Given the description of an element on the screen output the (x, y) to click on. 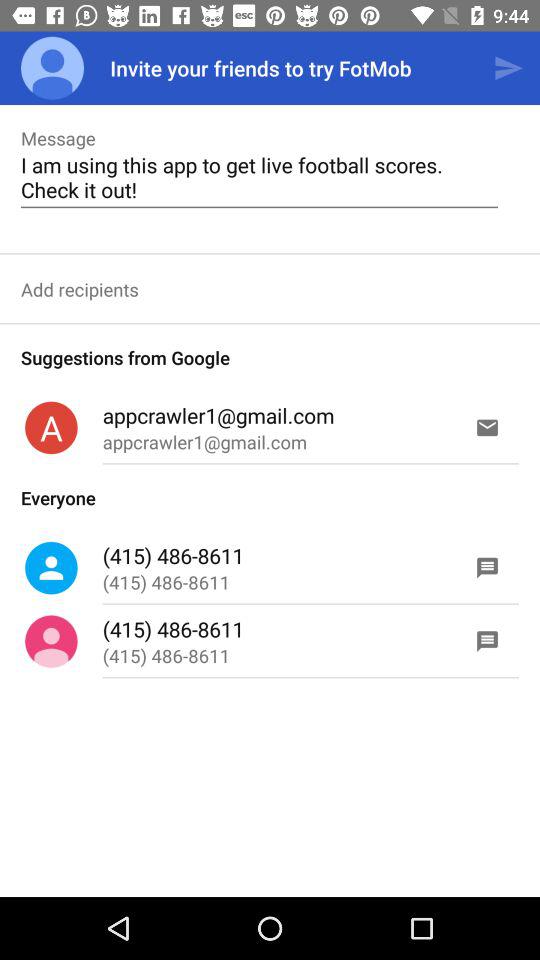
turn off the item above i am using icon (508, 67)
